Given the description of an element on the screen output the (x, y) to click on. 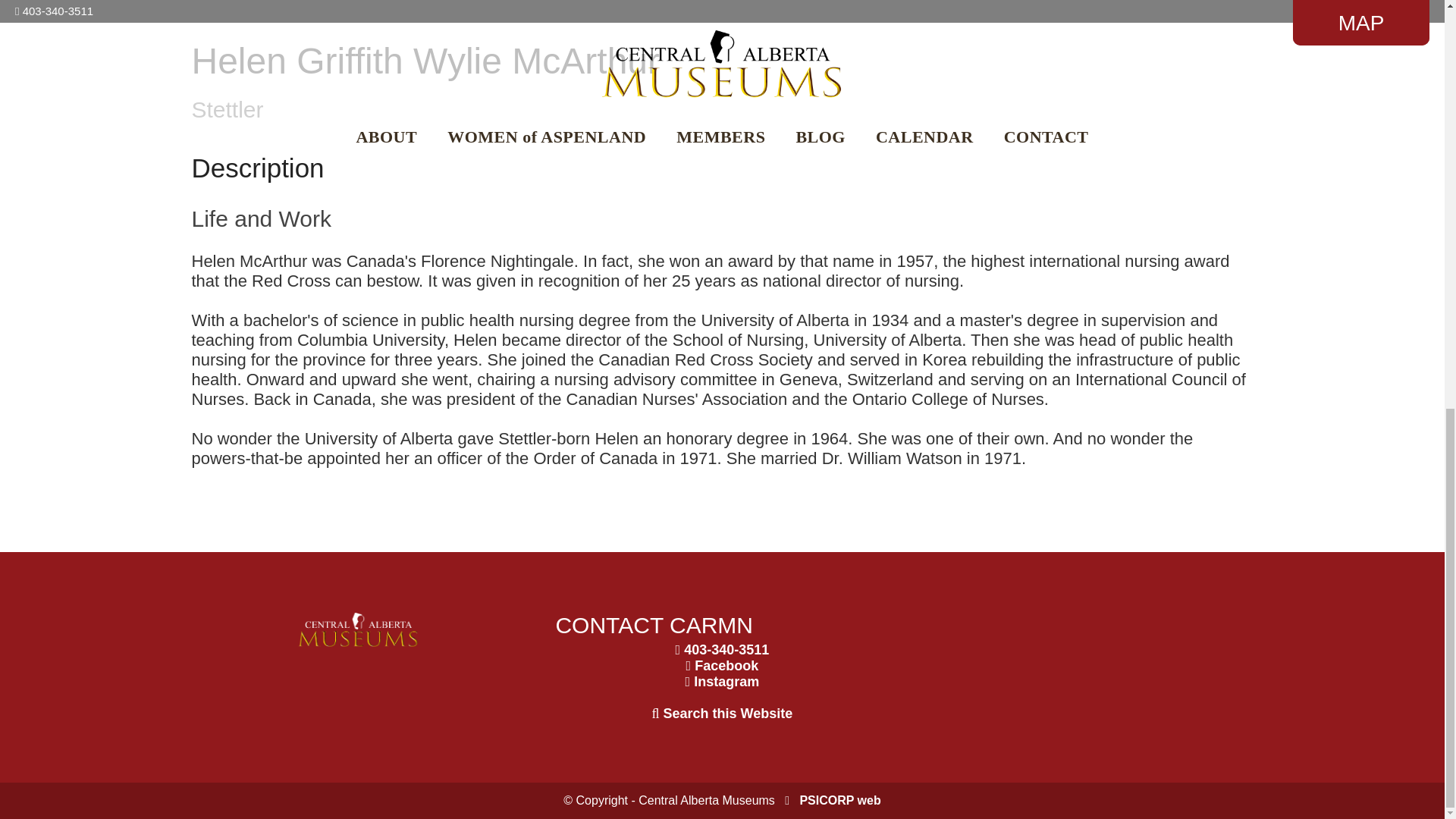
403-340-3511 (726, 649)
Search this Website (728, 713)
PSICORP web (839, 799)
Facebook (726, 665)
Instagram (726, 681)
